Given the description of an element on the screen output the (x, y) to click on. 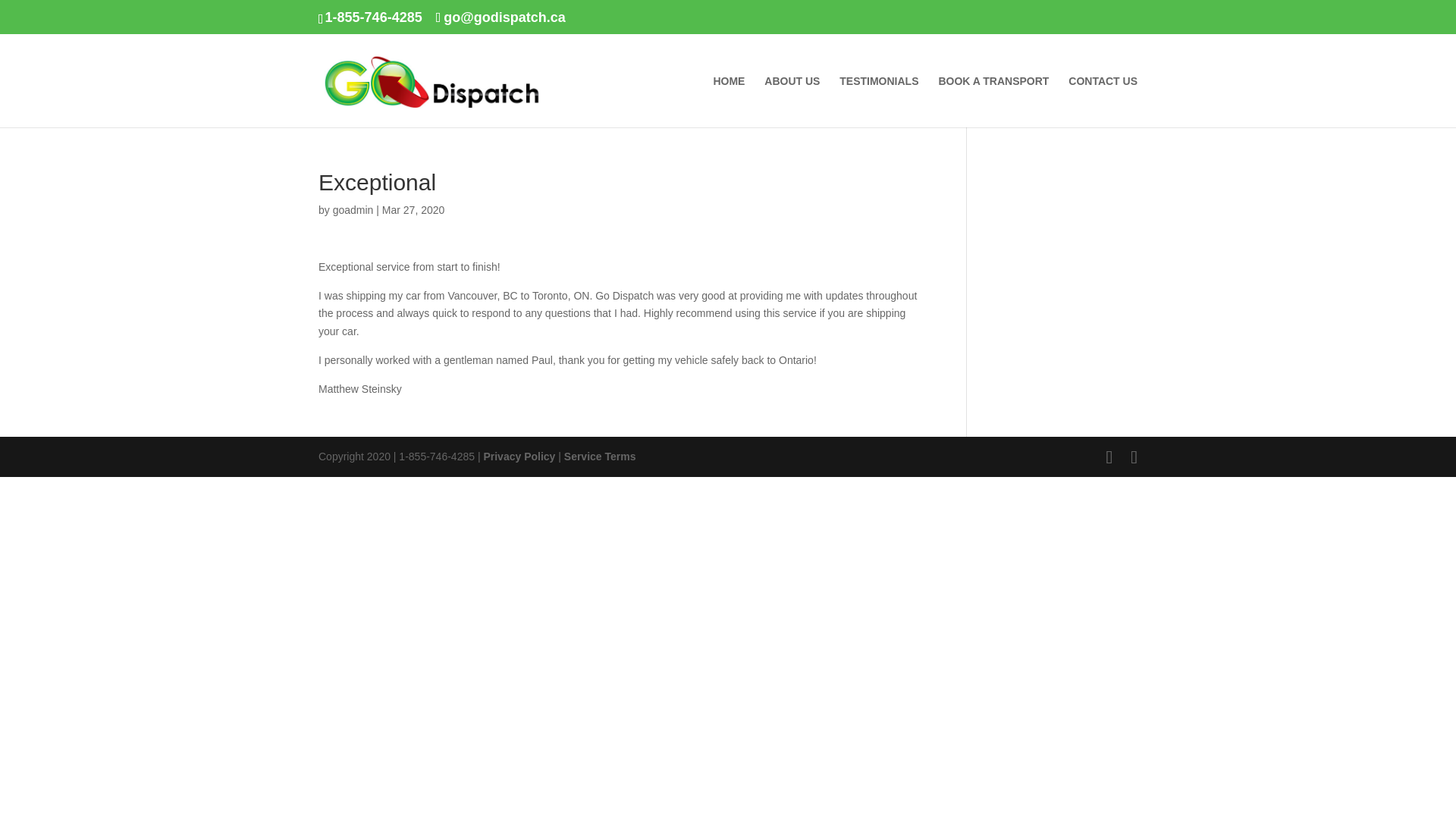
ABOUT US (791, 101)
Posts by goadmin (353, 209)
TESTIMONIALS (879, 101)
goadmin (353, 209)
1-855-746-4285 (373, 16)
Service Terms (600, 456)
BOOK A TRANSPORT (992, 101)
Privacy Policy (518, 456)
CONTACT US (1102, 101)
